Given the description of an element on the screen output the (x, y) to click on. 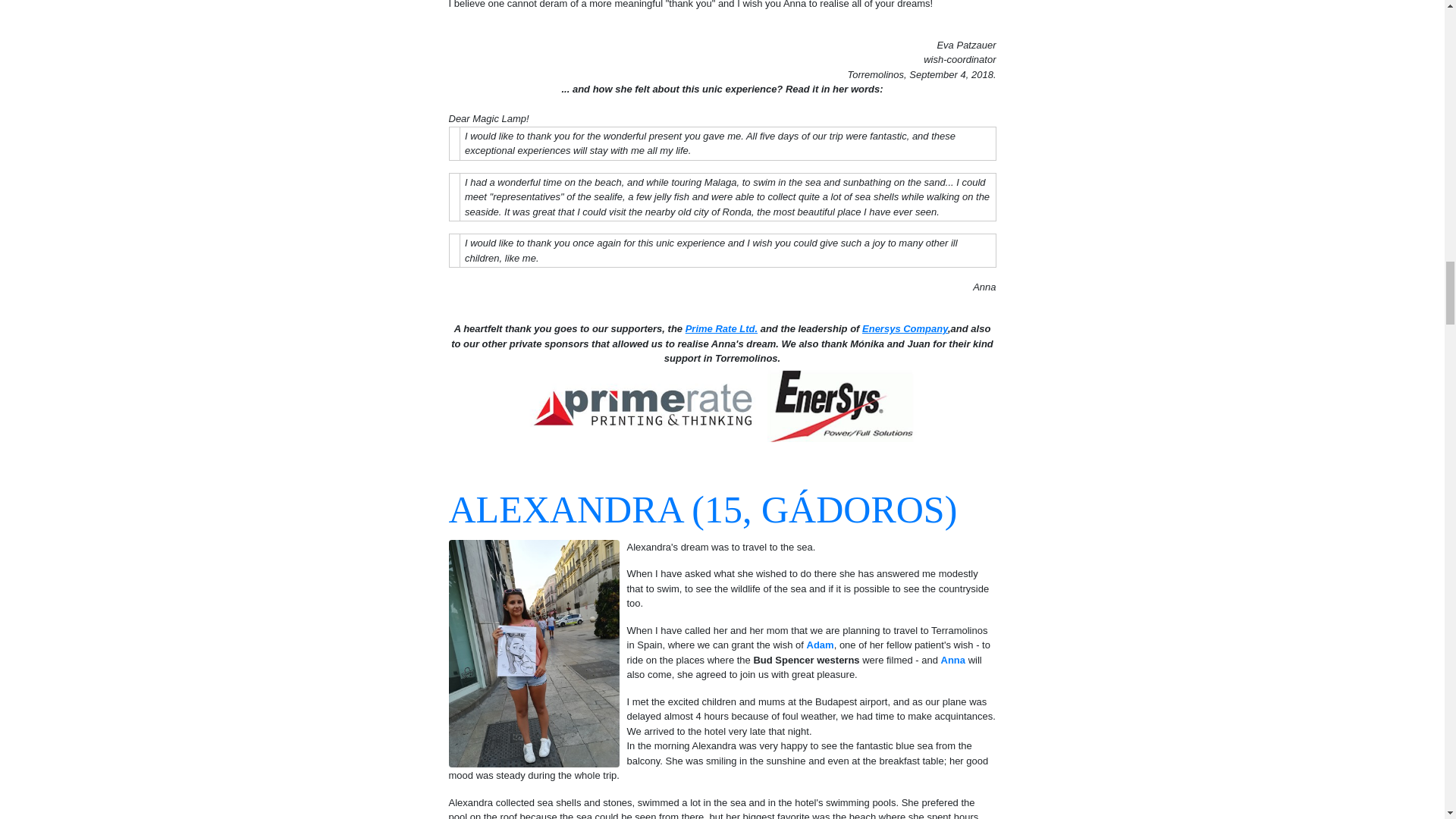
Enersys Company (904, 328)
Adam (820, 644)
Prime Rate Ltd. (721, 328)
Anna (953, 659)
